Given the description of an element on the screen output the (x, y) to click on. 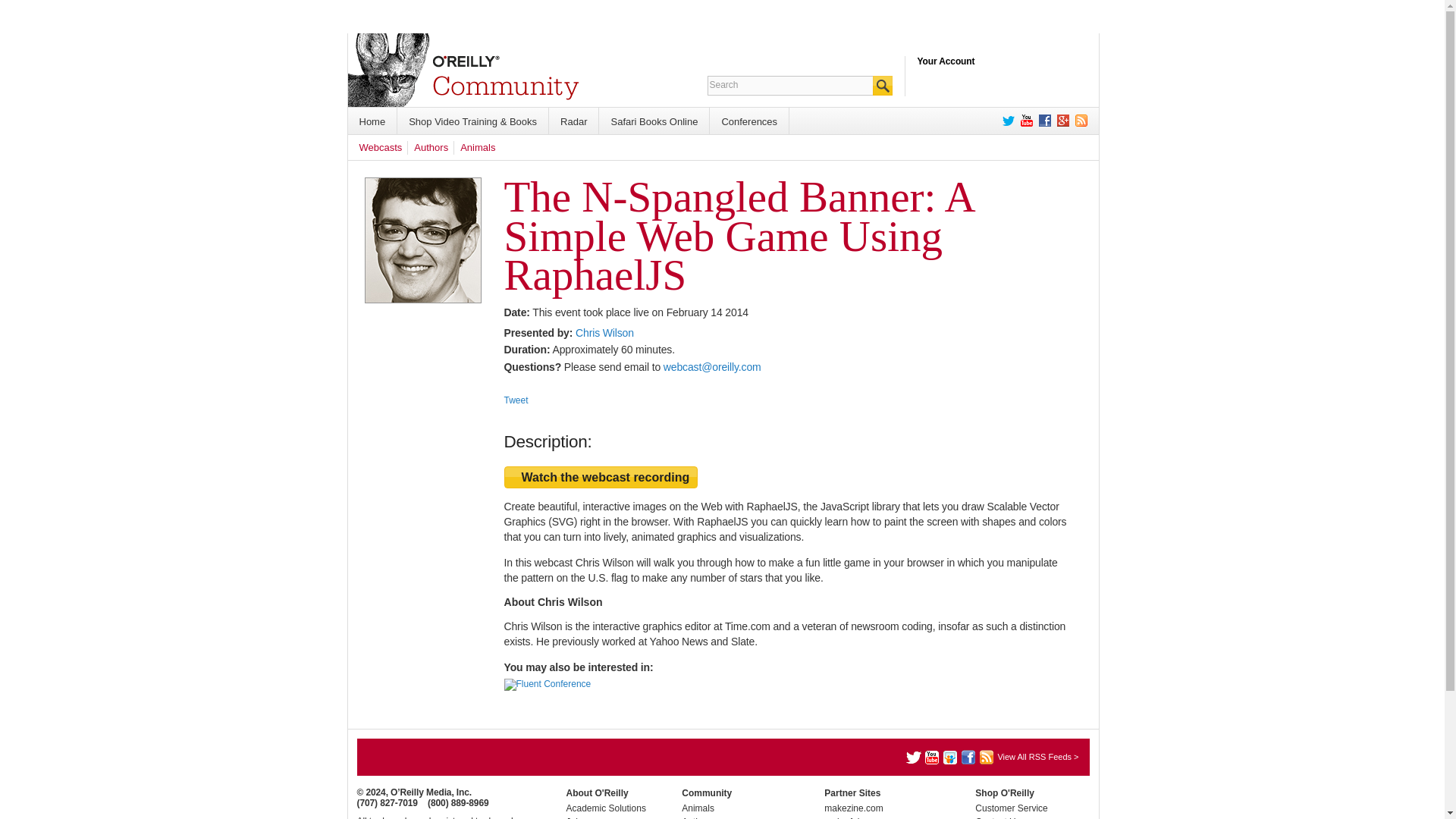
O'Reilly on Facebook (1041, 120)
Home (371, 121)
SEARCH (881, 85)
Chris Wilson (604, 332)
Jobs (575, 817)
Safari Books Online (653, 121)
Webcasts (381, 147)
Radar (573, 121)
Animals (477, 147)
O'Reilly on Twitter (1004, 120)
Subscribe to Feed (1077, 120)
Search (789, 85)
Tweet (515, 399)
Academic Solutions (605, 808)
O'Reilly on YouTube (1023, 120)
